Given the description of an element on the screen output the (x, y) to click on. 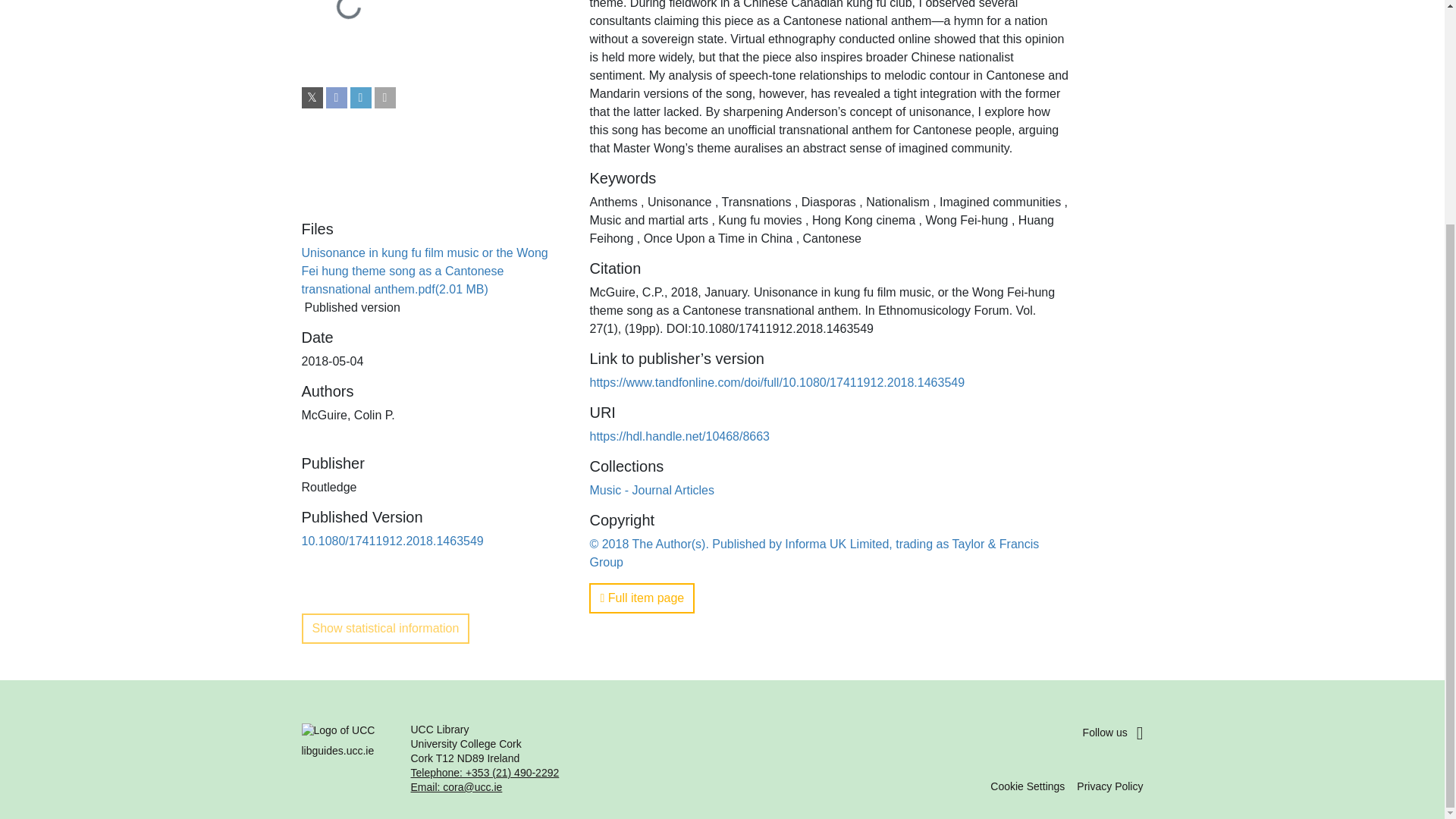
libguides.ucc.ie (347, 758)
Show statistical information (385, 628)
Music - Journal Articles (651, 490)
Full item page (641, 598)
Cookie Settings (1027, 786)
Privacy Policy (1109, 786)
